Given the description of an element on the screen output the (x, y) to click on. 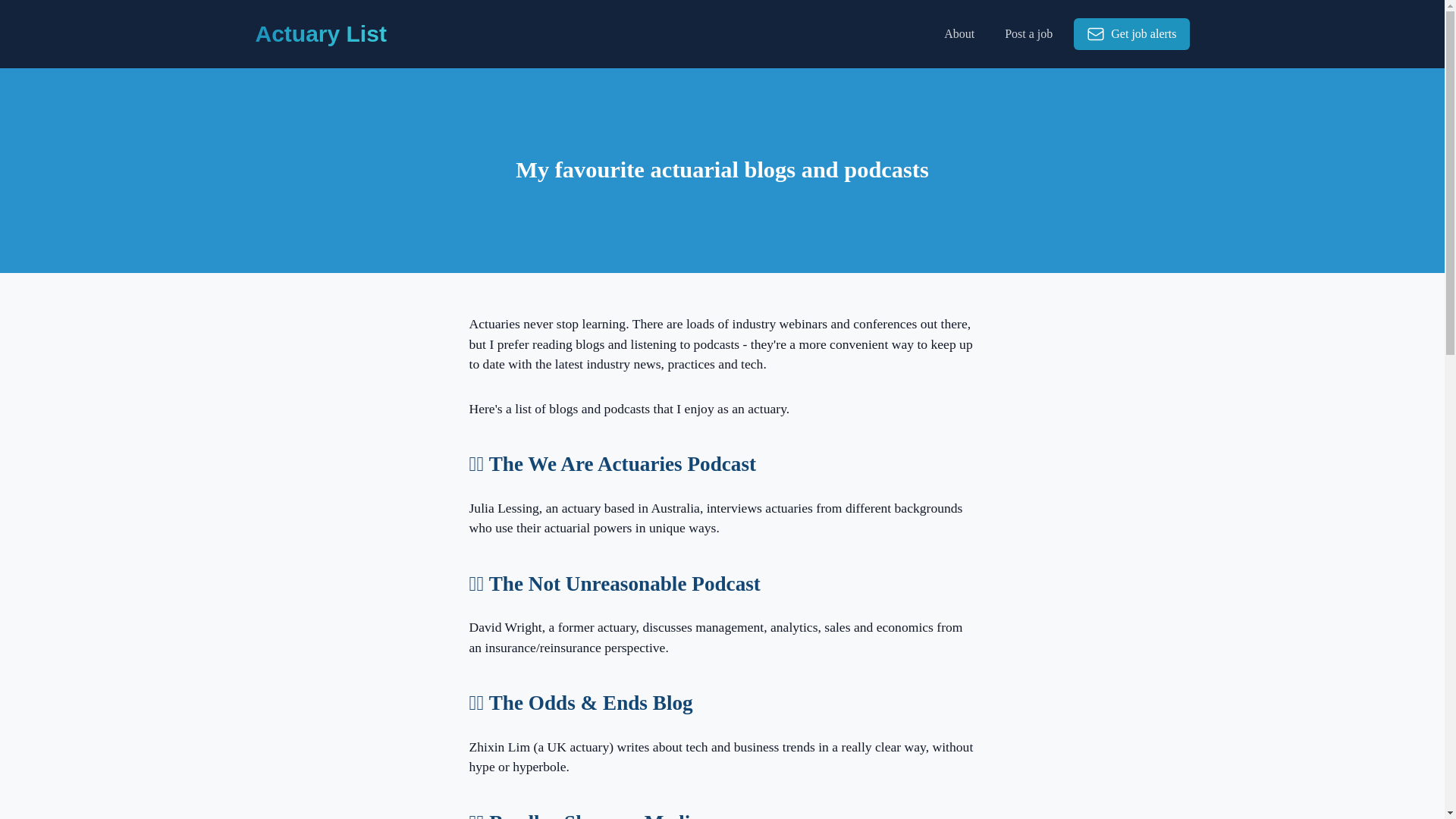
Post a job (1028, 33)
About (959, 33)
Get job alerts (1125, 33)
Get job alerts (1131, 33)
Actuary List (319, 33)
